Given the description of an element on the screen output the (x, y) to click on. 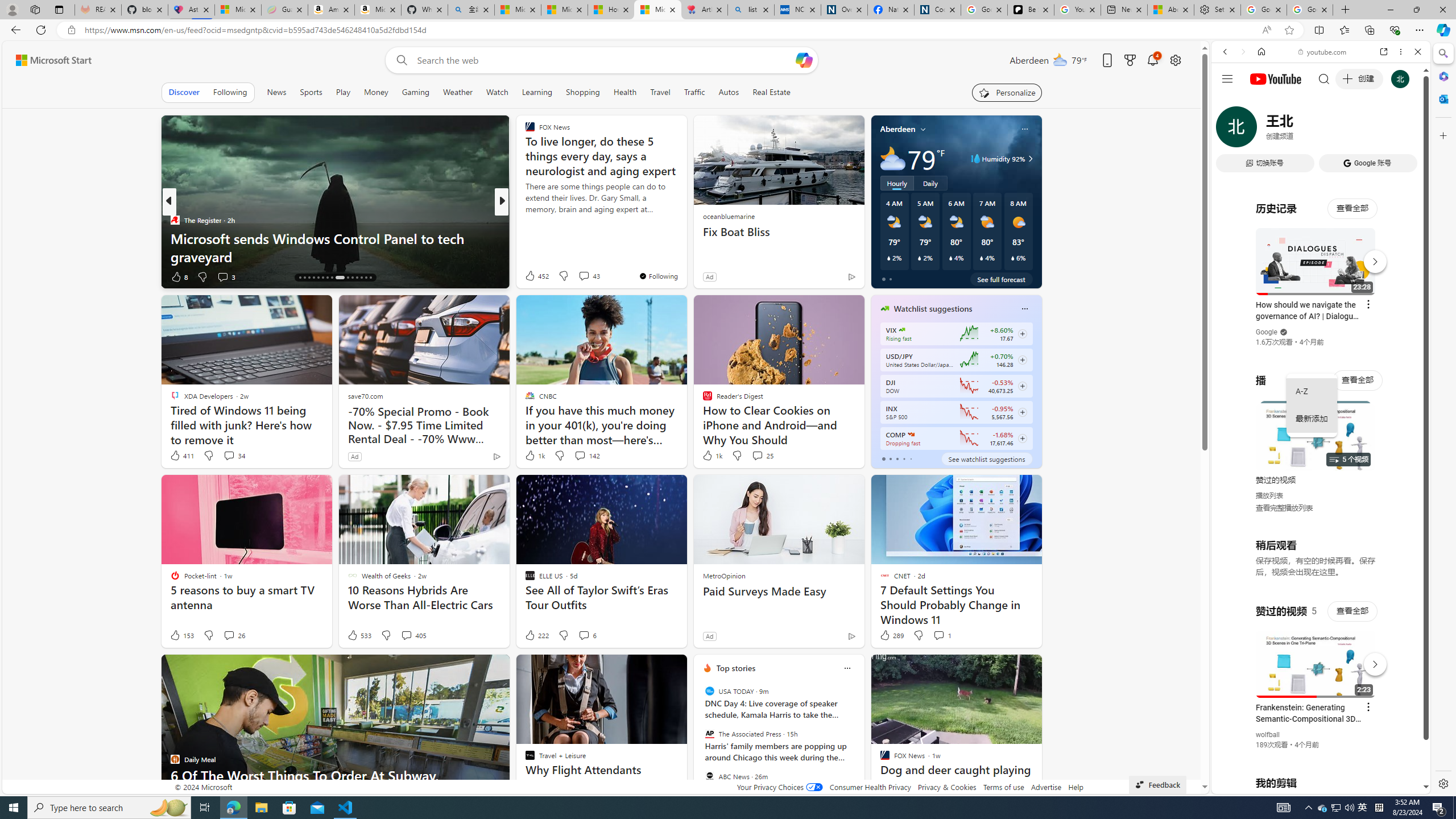
Google (1320, 281)
View comments 67 Comment (585, 276)
Play (342, 92)
452 Like (536, 275)
tab-1 (889, 458)
View comments 7 Comment (580, 276)
View comments 6 Comment (583, 635)
